Given the description of an element on the screen output the (x, y) to click on. 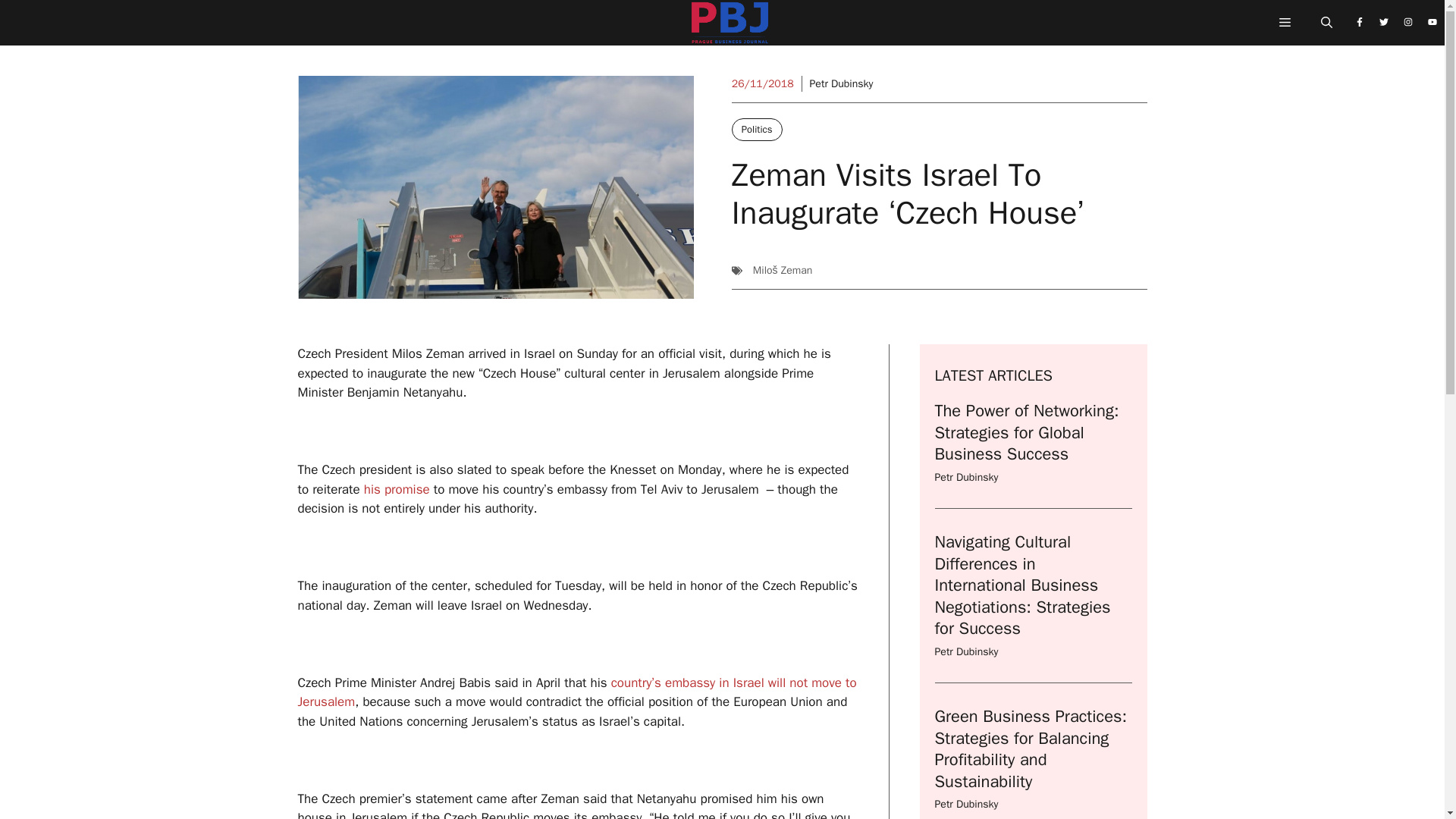
Prague Business Journal (730, 26)
his promise (396, 489)
Politics (757, 128)
Petr Dubinsky (965, 803)
Petr Dubinsky (965, 651)
Petr Dubinsky (965, 477)
Petr Dubinsky (841, 83)
